Given the description of an element on the screen output the (x, y) to click on. 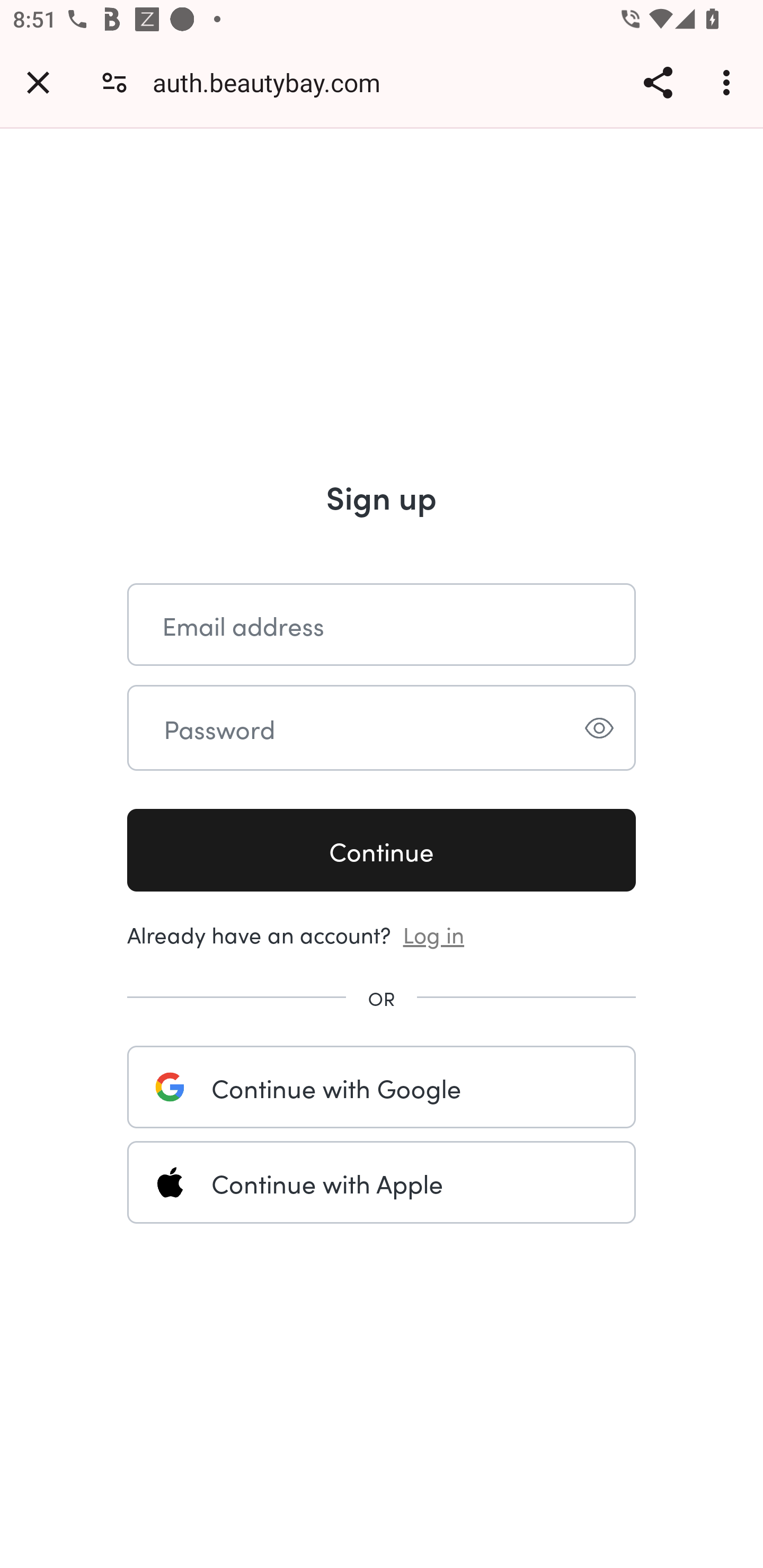
Close tab (38, 82)
Share (657, 82)
Customize and control Google Chrome (729, 82)
Connection is secure (114, 81)
auth.beautybay.com (272, 81)
Show password (599, 727)
Continue (381, 850)
Log in (433, 933)
Continue with Google (381, 1086)
Continue with Apple (381, 1182)
